Given the description of an element on the screen output the (x, y) to click on. 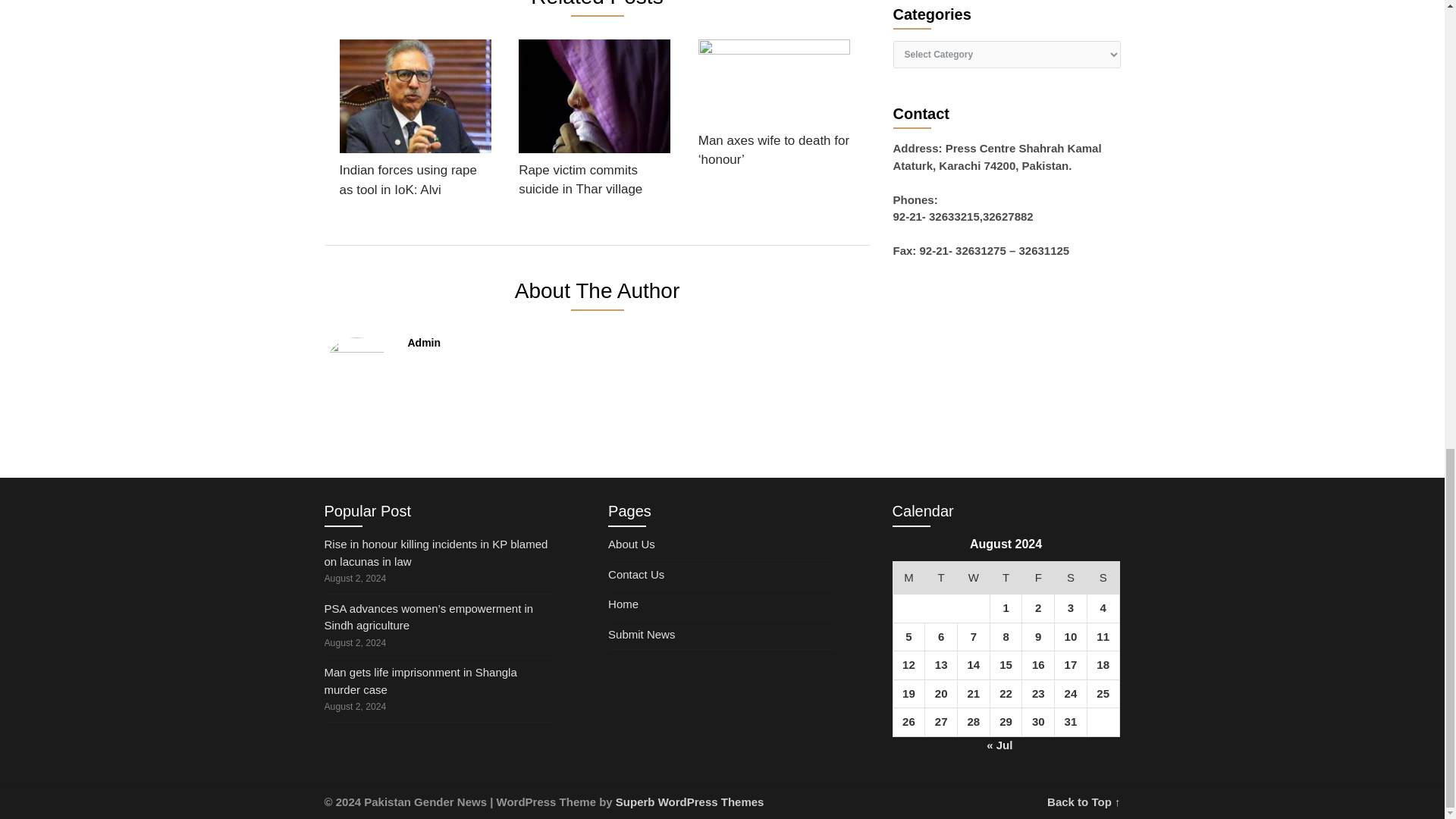
Rape victim commits suicide in Thar village (593, 123)
Indian forces using rape as tool in IoK: Alvi (415, 123)
